Given the description of an element on the screen output the (x, y) to click on. 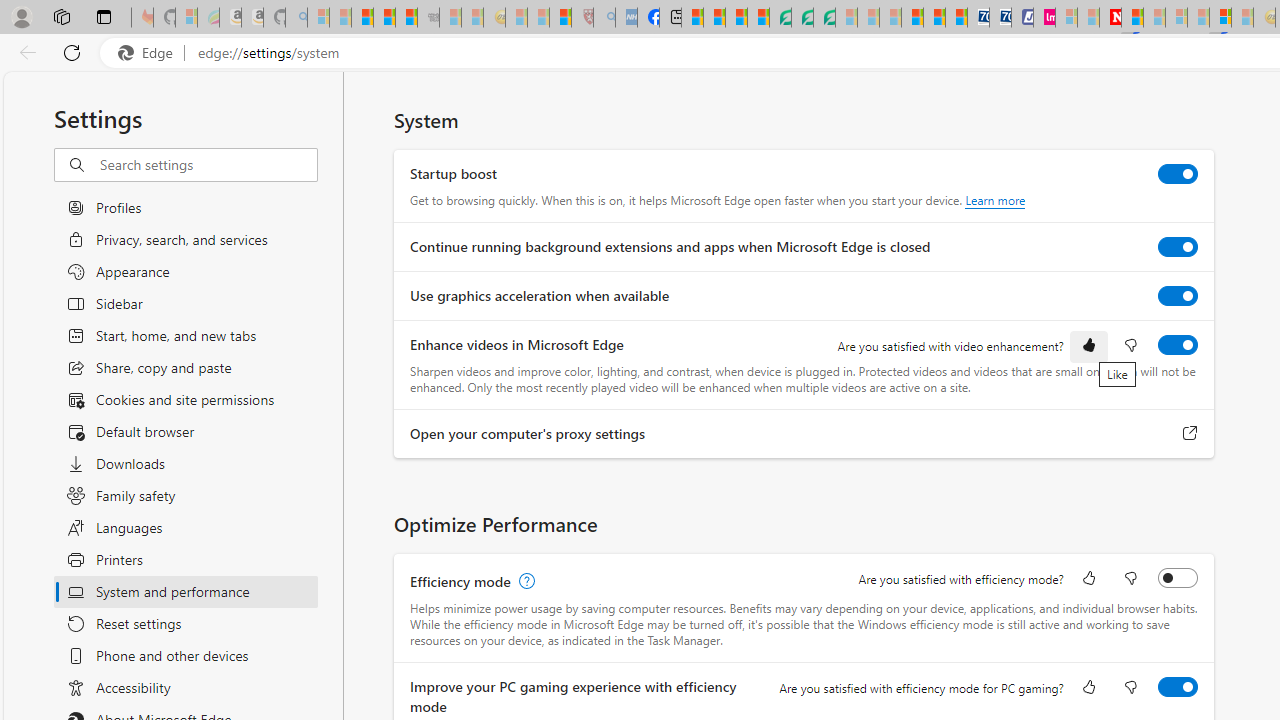
Local - MSN (560, 17)
Use graphics acceleration when available (1178, 295)
Open your computer's proxy settings (1190, 434)
Jobs - lastminute.com Investor Portal (1044, 17)
Enhance videos in Microsoft Edge (1178, 344)
Terms of Use Agreement (802, 17)
